Given the description of an element on the screen output the (x, y) to click on. 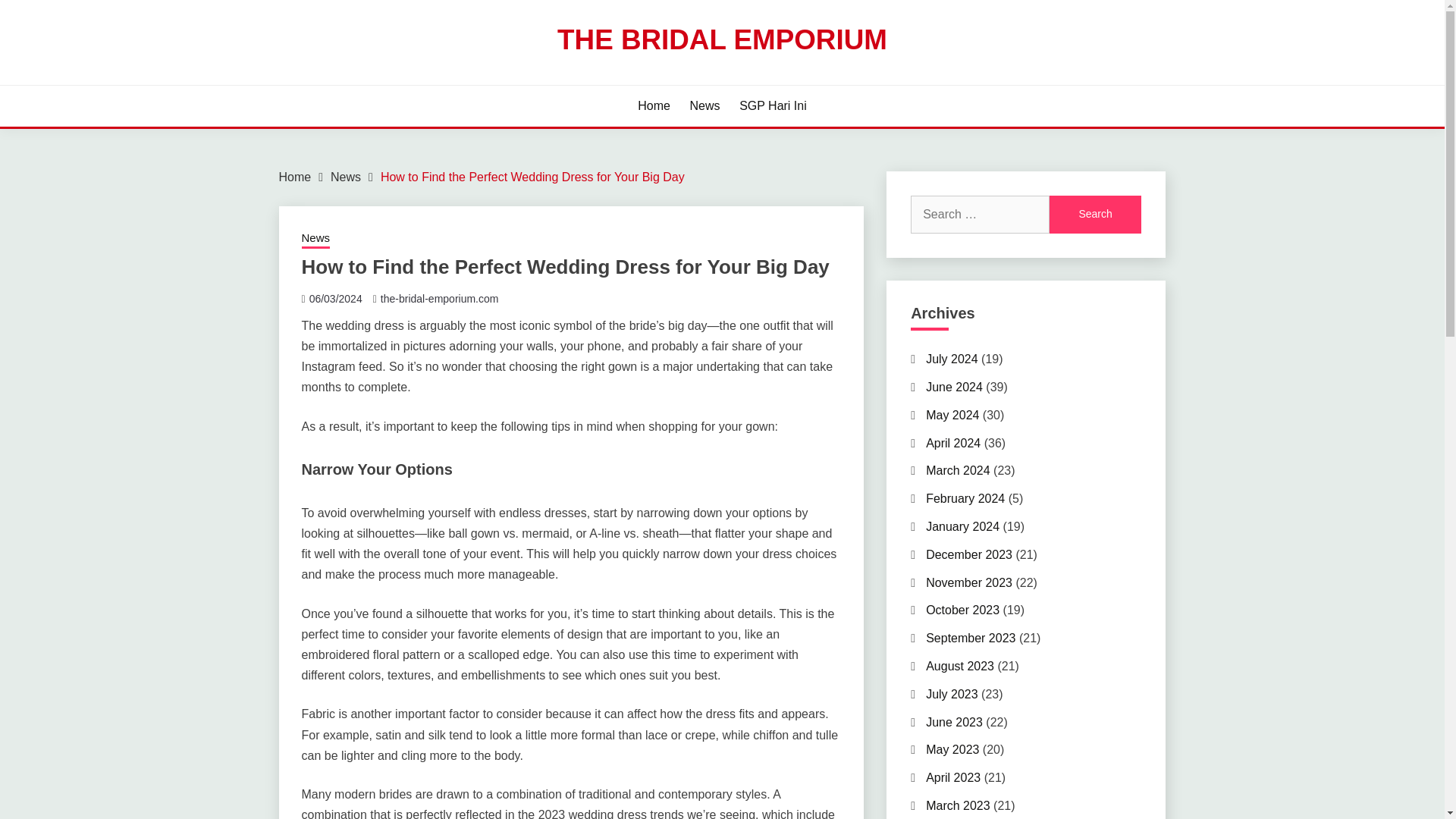
August 2023 (960, 666)
SGP Hari Ini (772, 106)
the-bridal-emporium.com (439, 298)
Search (1095, 214)
May 2024 (952, 414)
How to Find the Perfect Wedding Dress for Your Big Day (532, 176)
March 2024 (958, 470)
Search (1095, 214)
Home (653, 106)
November 2023 (968, 582)
June 2023 (954, 721)
February 2024 (965, 498)
News (315, 239)
September 2023 (970, 637)
News (345, 176)
